Given the description of an element on the screen output the (x, y) to click on. 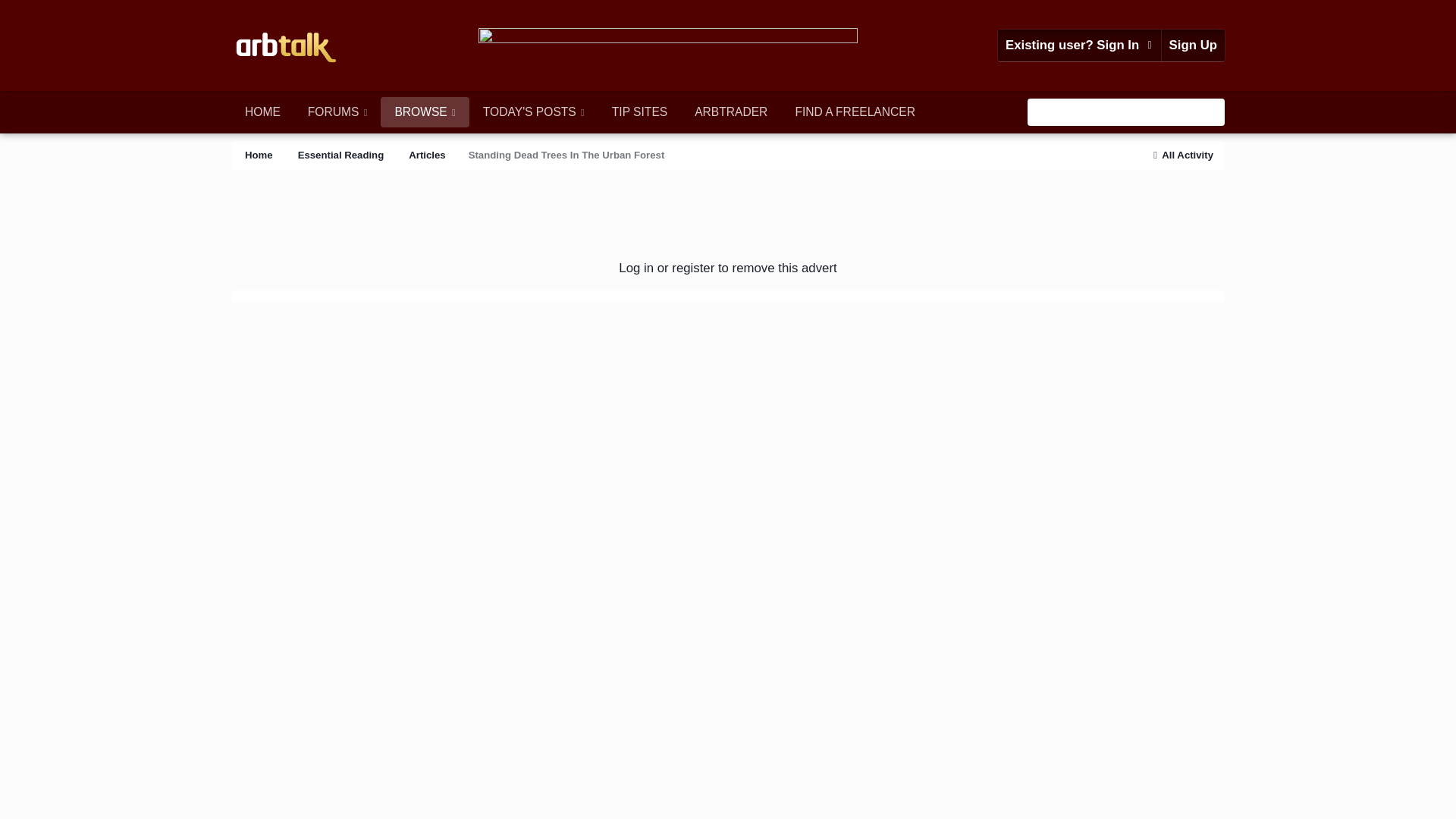
Existing user? Sign In   (1078, 45)
BROWSE (424, 112)
TODAY'S POSTS (533, 112)
Home (257, 154)
HOME (262, 112)
Sign Up (1192, 45)
FORUMS (337, 112)
